Given the description of an element on the screen output the (x, y) to click on. 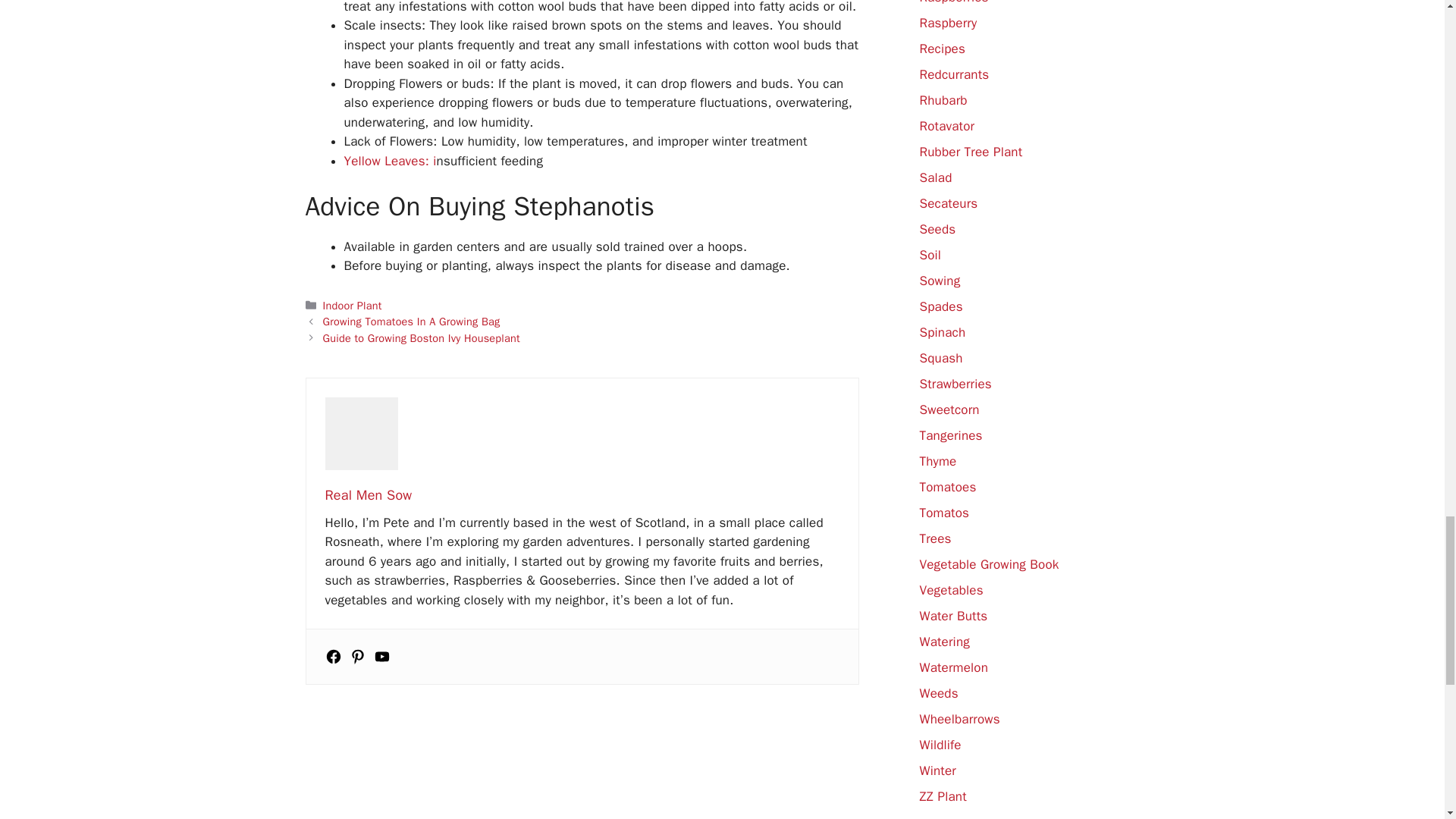
Growing Tomatoes In A Growing Bag (411, 321)
Indoor Plant (352, 305)
Yellow Leaves: i (389, 160)
Guide to Growing Boston Ivy Houseplant (421, 337)
Real Men Sow (368, 494)
